Given the description of an element on the screen output the (x, y) to click on. 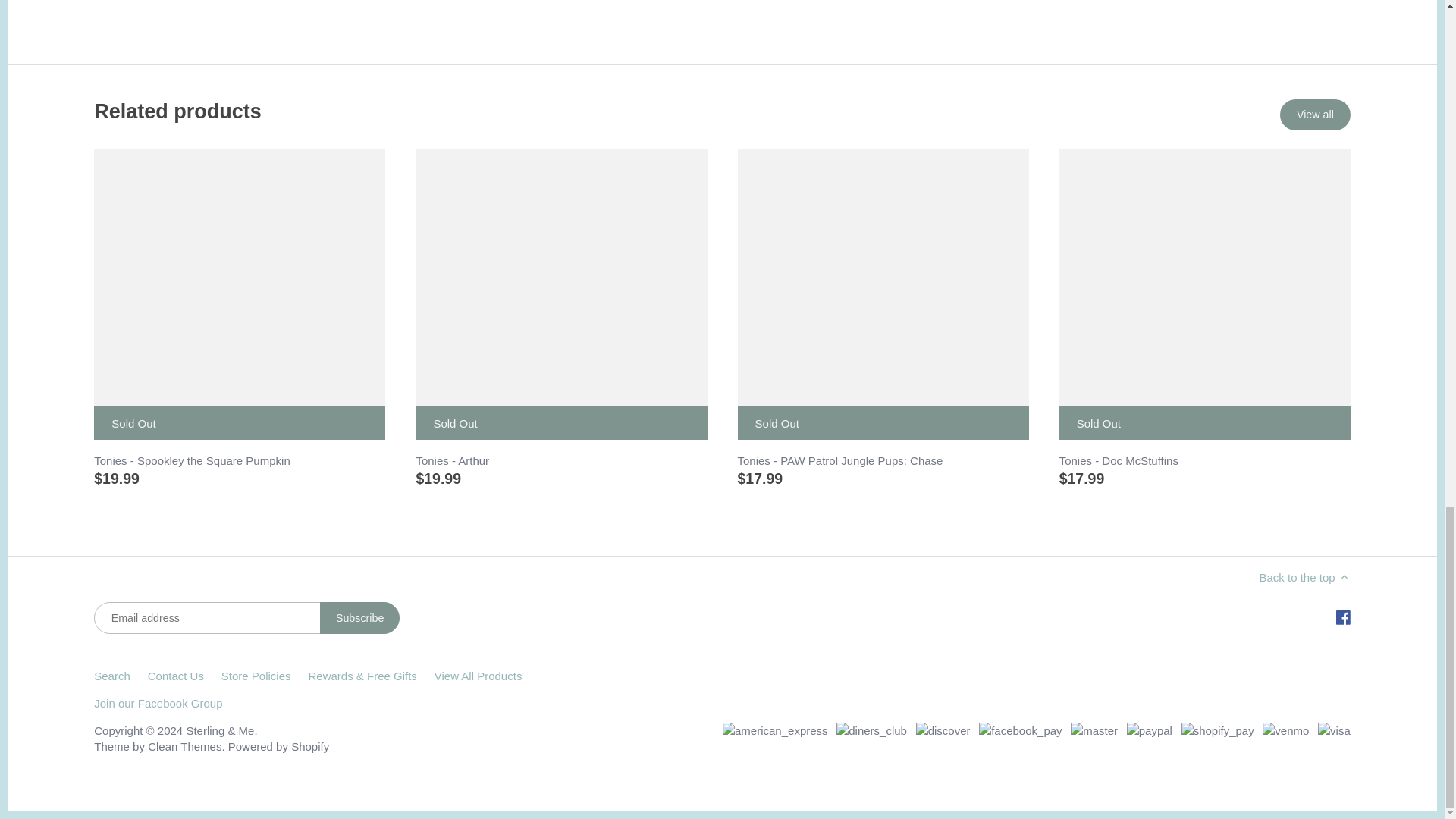
Subscribe (359, 617)
Facebook (1342, 617)
Facebook (1343, 616)
